Given the description of an element on the screen output the (x, y) to click on. 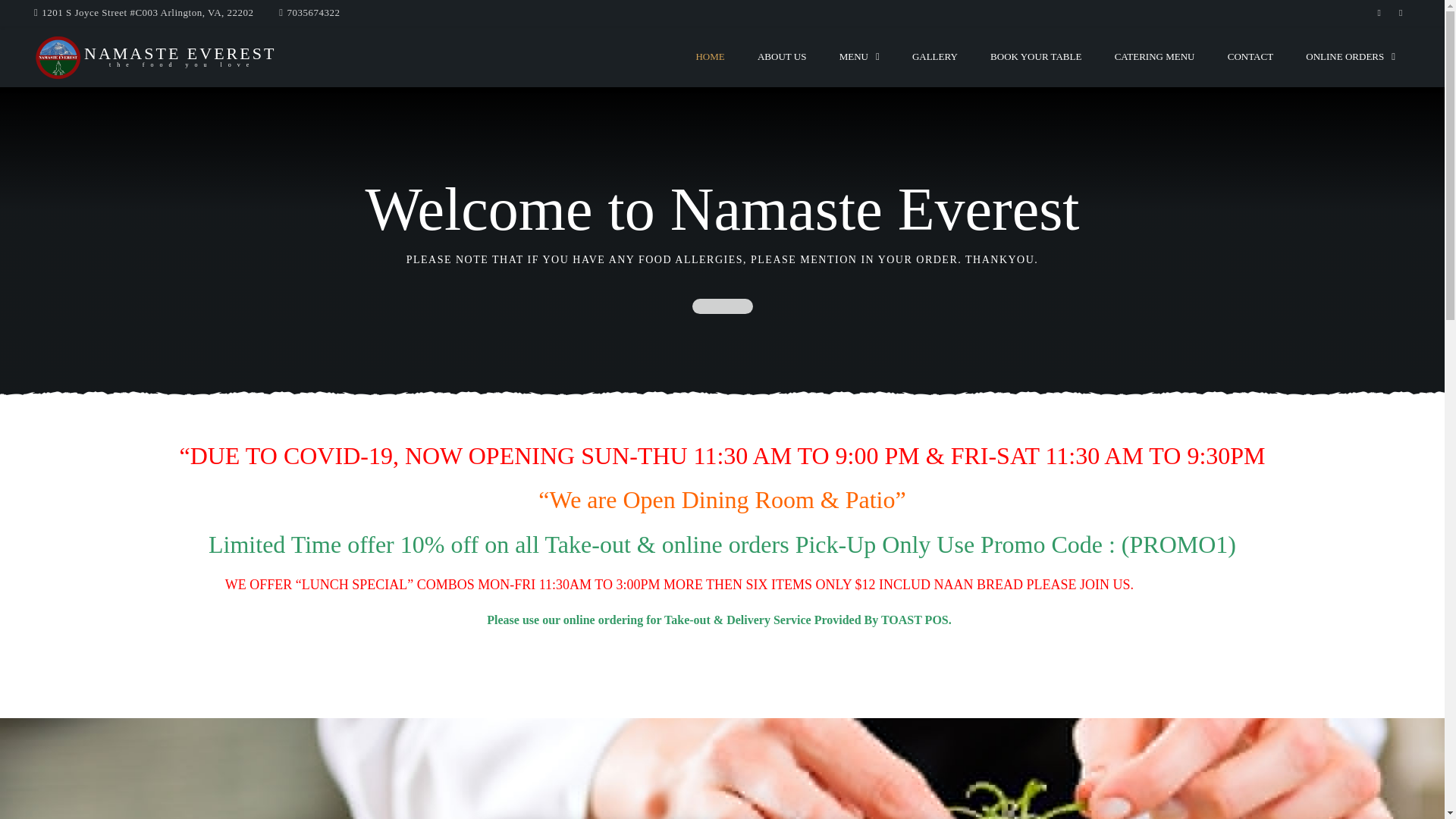
GALLERY (180, 56)
CONTACT (934, 56)
CATERING MENU (1250, 56)
MENU (1154, 56)
ONLINE ORDERS (859, 56)
ABOUT US (1350, 56)
7035674322 (781, 56)
BOOK YOUR TABLE (313, 12)
HOME (1035, 56)
